Given the description of an element on the screen output the (x, y) to click on. 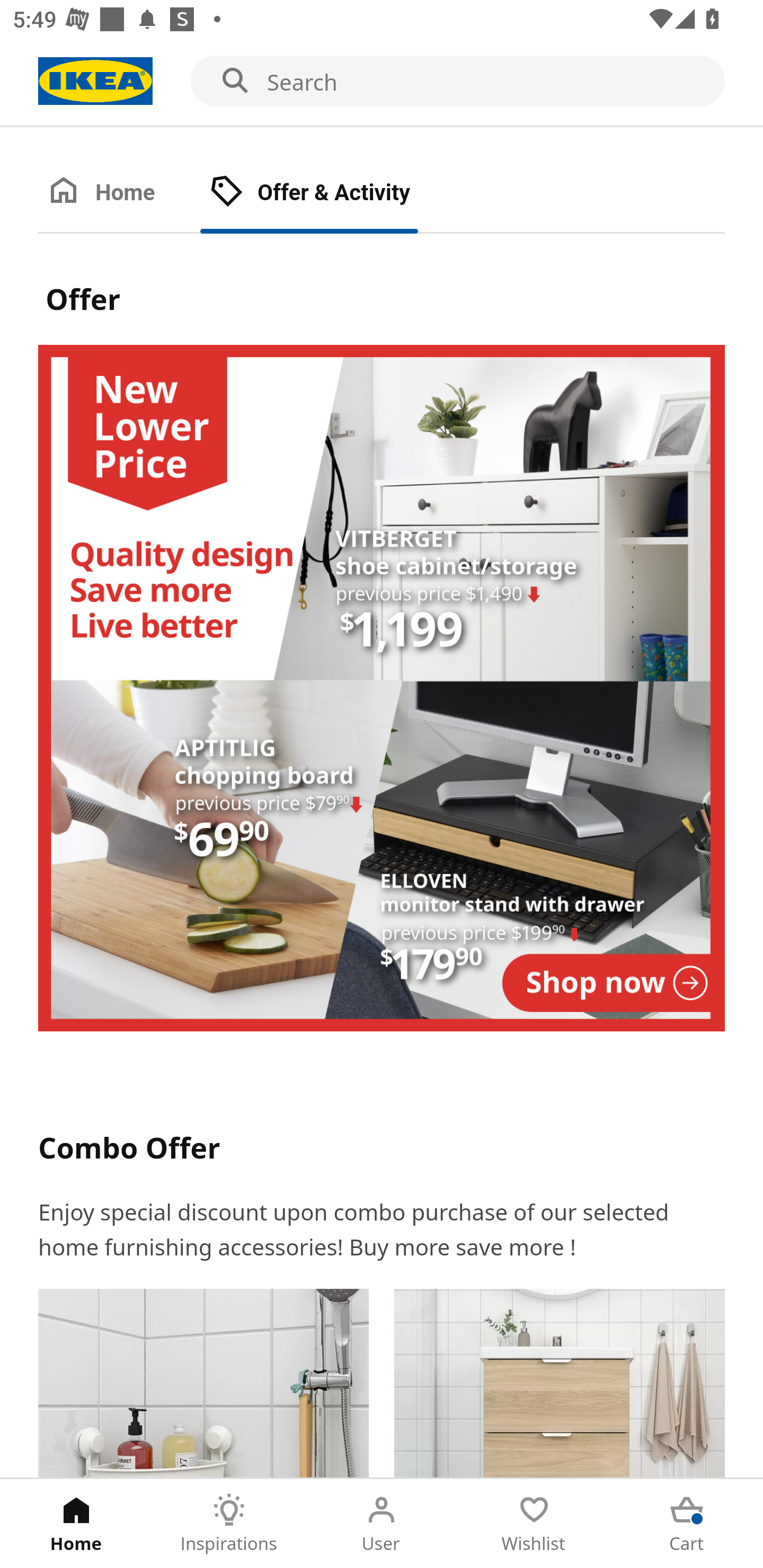
Search (381, 81)
Home
Tab 1 of 2 (118, 192)
Offer & Activity
Tab 2 of 2 (327, 192)
Home
Tab 1 of 5 (76, 1522)
Inspirations
Tab 2 of 5 (228, 1522)
User
Tab 3 of 5 (381, 1522)
Wishlist
Tab 4 of 5 (533, 1522)
Cart
Tab 5 of 5 (686, 1522)
